Given the description of an element on the screen output the (x, y) to click on. 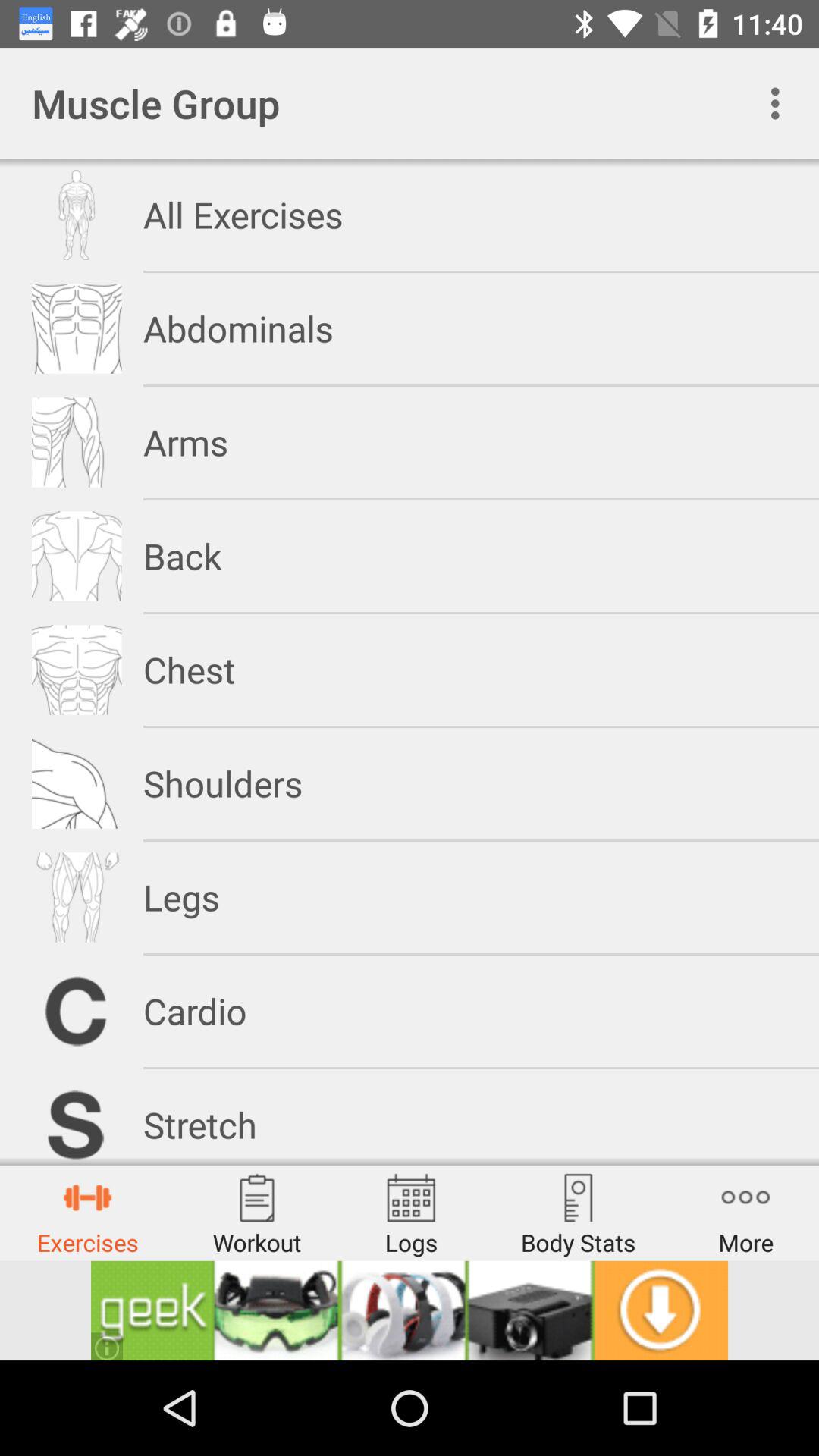
advertisement page (409, 1310)
